Given the description of an element on the screen output the (x, y) to click on. 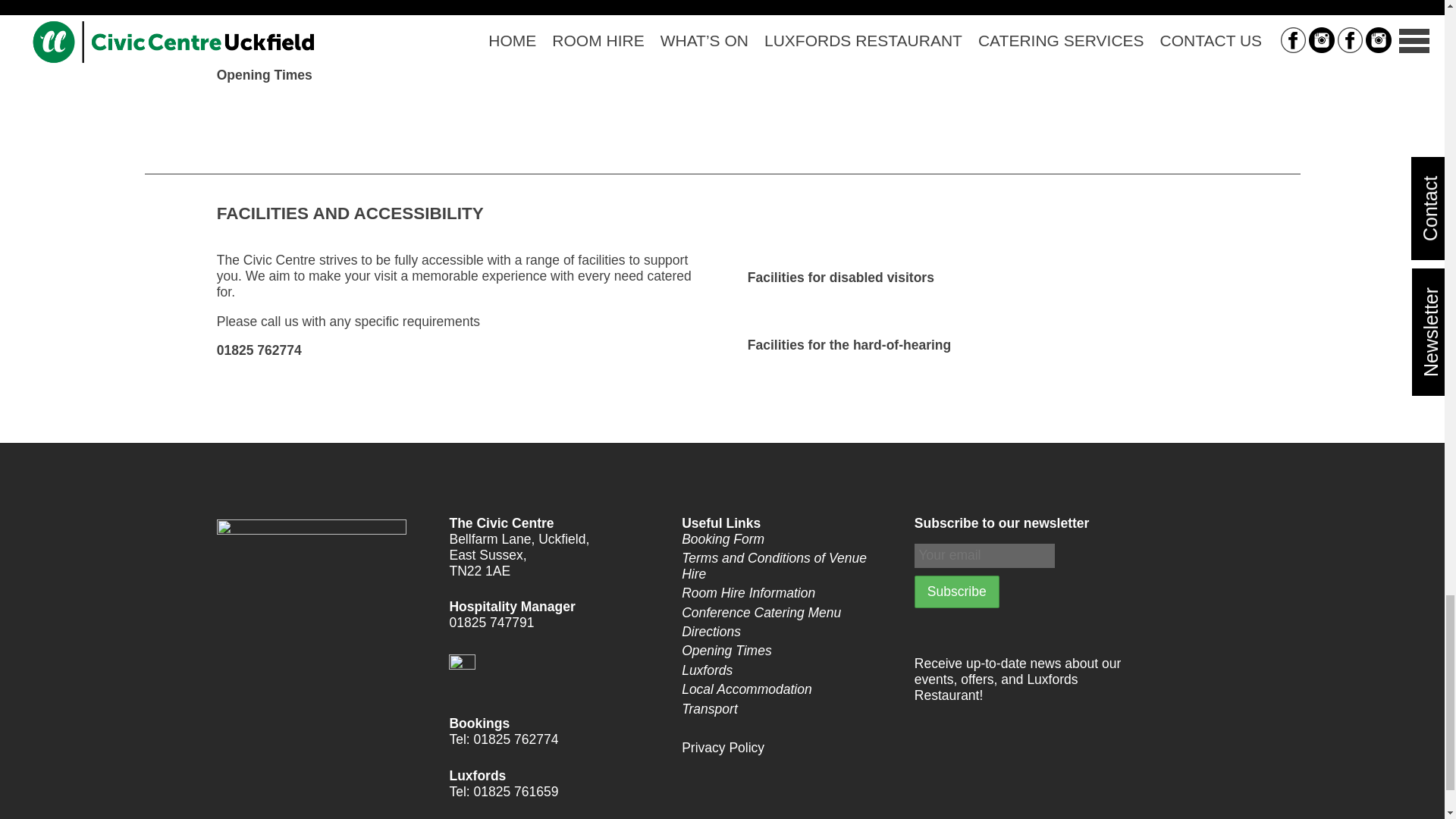
Local Accommodation (783, 689)
Transport (783, 709)
Subscribe (956, 591)
Room Hire Information (783, 593)
Conference Catering Menu (783, 612)
Directions (783, 631)
Luxfords (783, 670)
Booking Form (783, 539)
Opening Times (783, 650)
Terms and Conditions of Venue Hire (783, 566)
